Given the description of an element on the screen output the (x, y) to click on. 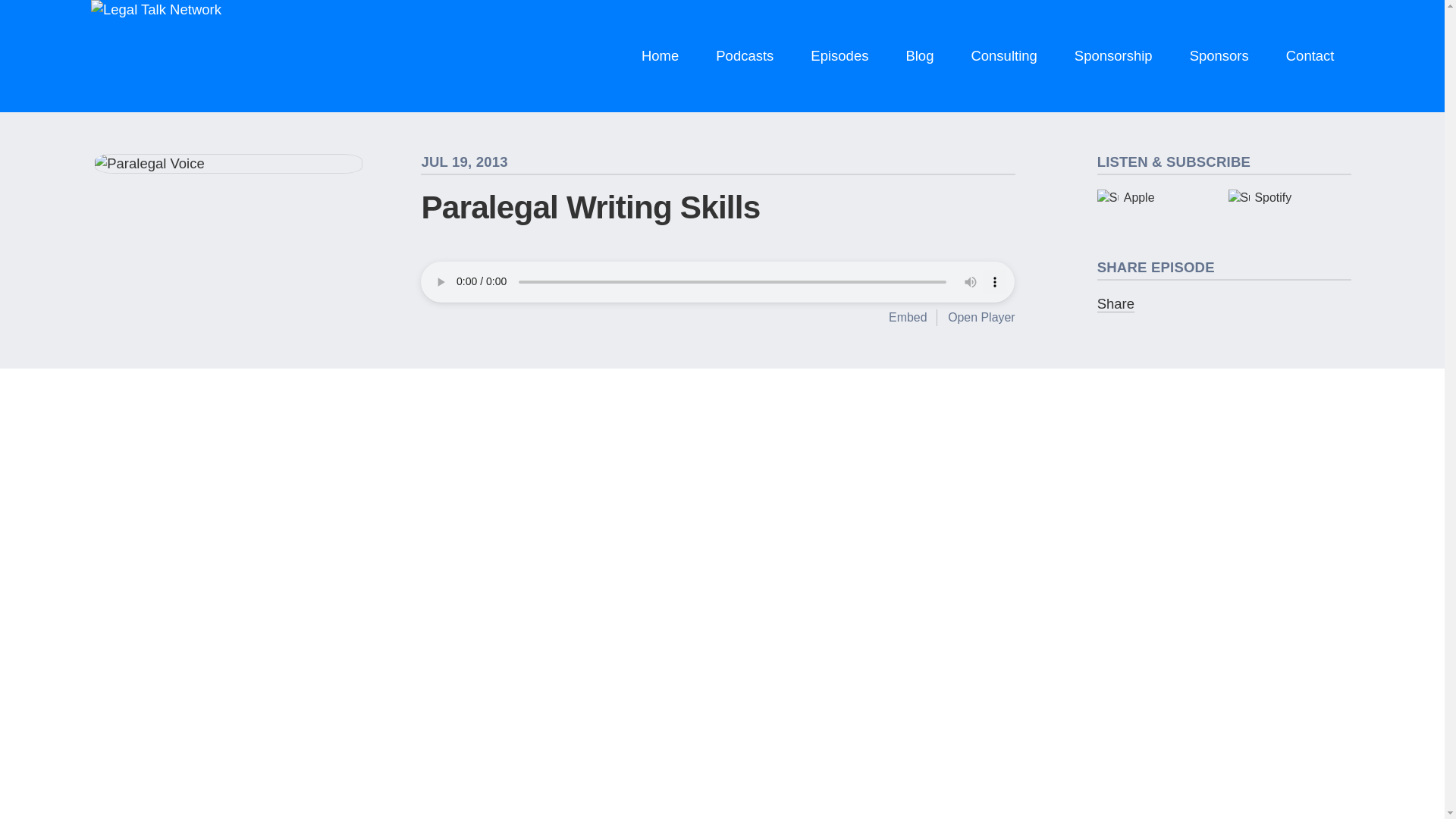
Share (1115, 303)
Sponsorship (1113, 56)
Apple (1158, 197)
Consulting (1003, 56)
Spotify (1289, 197)
Embed (907, 317)
Open Player (980, 317)
Paralegal Voice (228, 163)
